Given the description of an element on the screen output the (x, y) to click on. 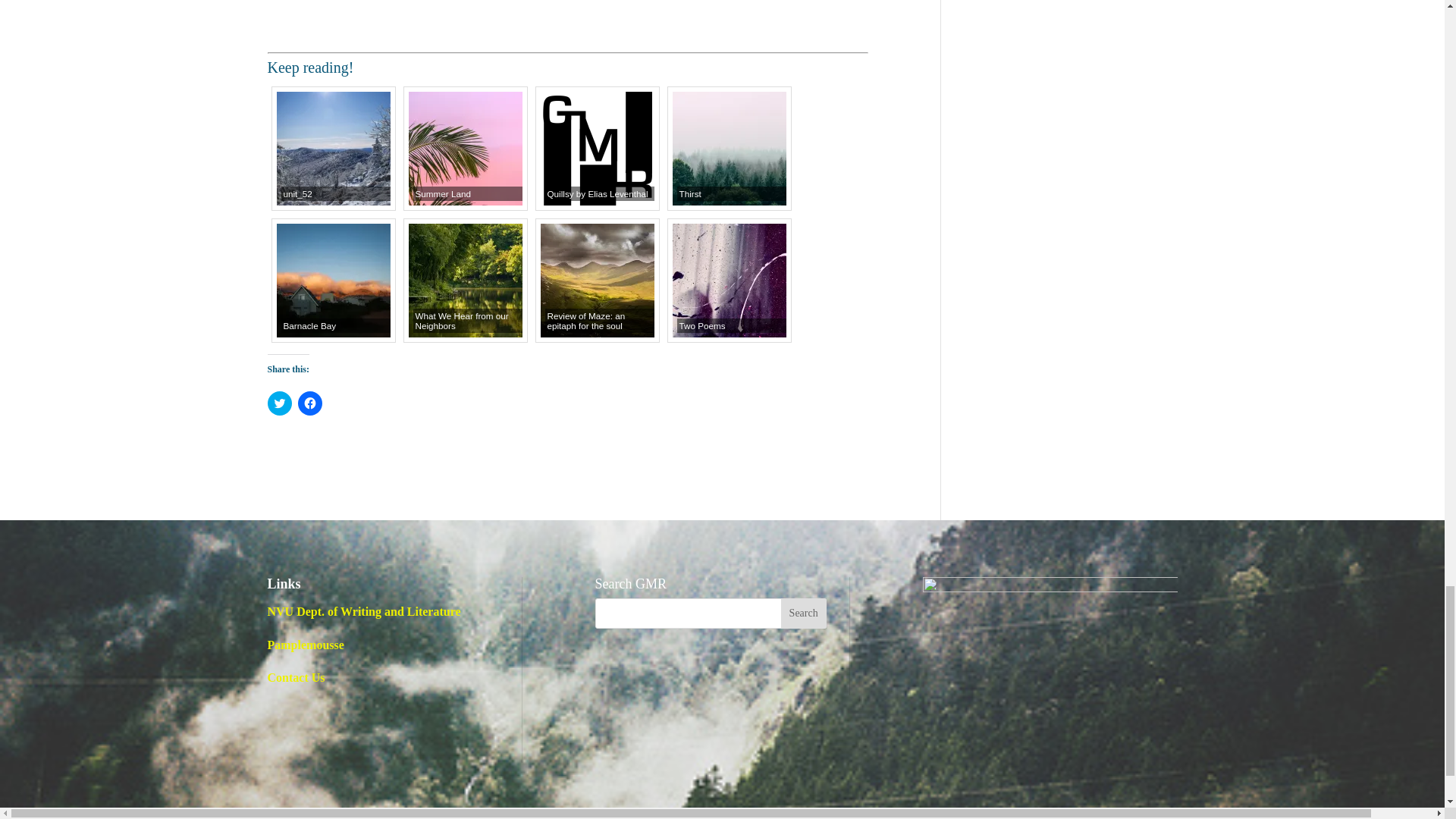
Quillsy by Elias Leventhal (596, 148)
Click to share on Twitter (278, 403)
Thirst (728, 148)
Click to share on Facebook (309, 403)
Summer Land (464, 148)
Review of Maze: an epitaph for the soul (596, 280)
Barnacle Bay (333, 280)
Two Poems (728, 280)
What We Hear from our Neighbors (464, 280)
NVU Logo - White (1048, 600)
Search (803, 613)
